Given the description of an element on the screen output the (x, y) to click on. 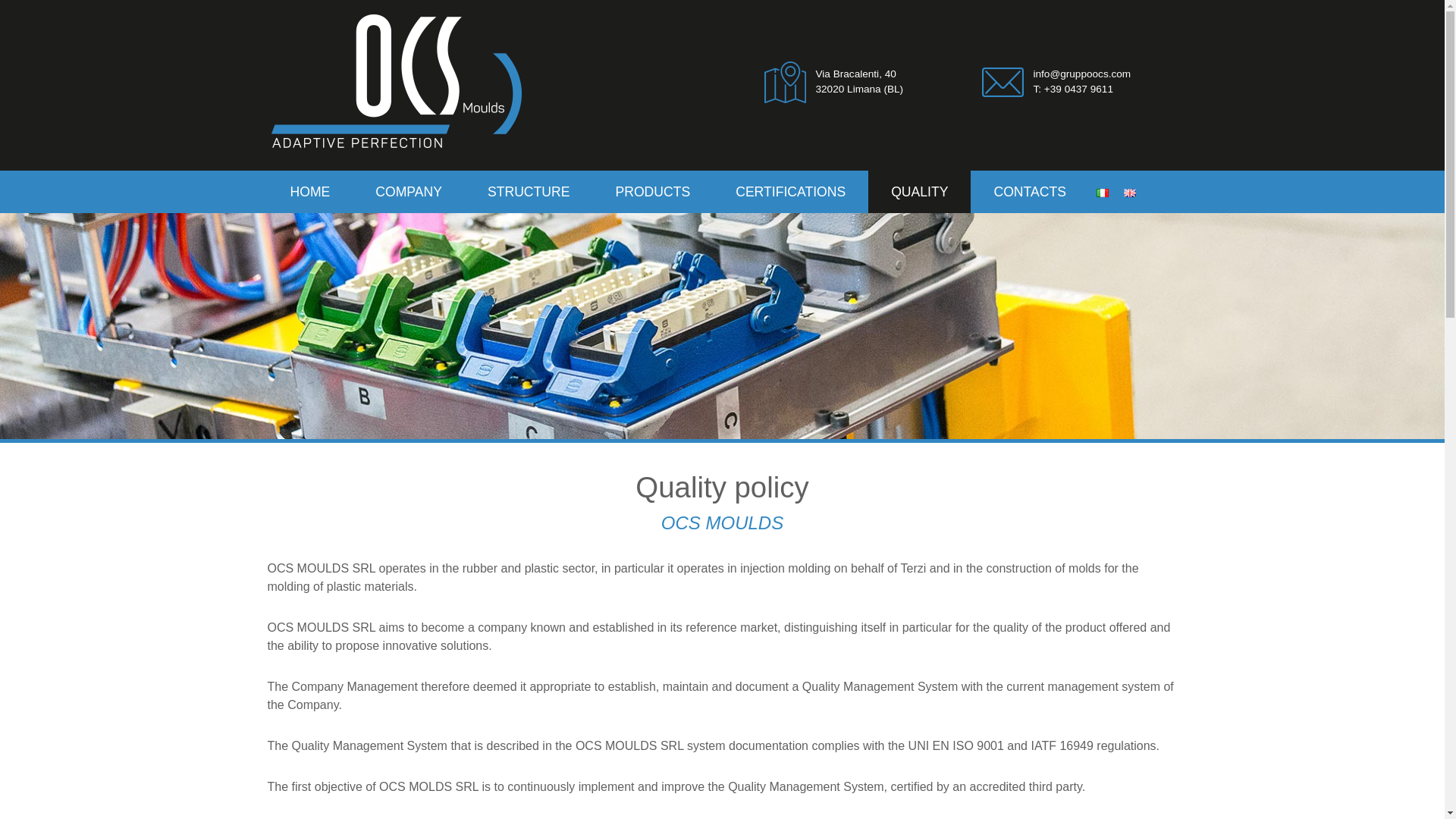
STRUCTURE (528, 191)
CERTIFICATIONS (790, 191)
COMPANY (408, 191)
HOME (309, 191)
QUALITY (919, 191)
PRODUCTS (652, 191)
CONTACTS (1028, 191)
